Given the description of an element on the screen output the (x, y) to click on. 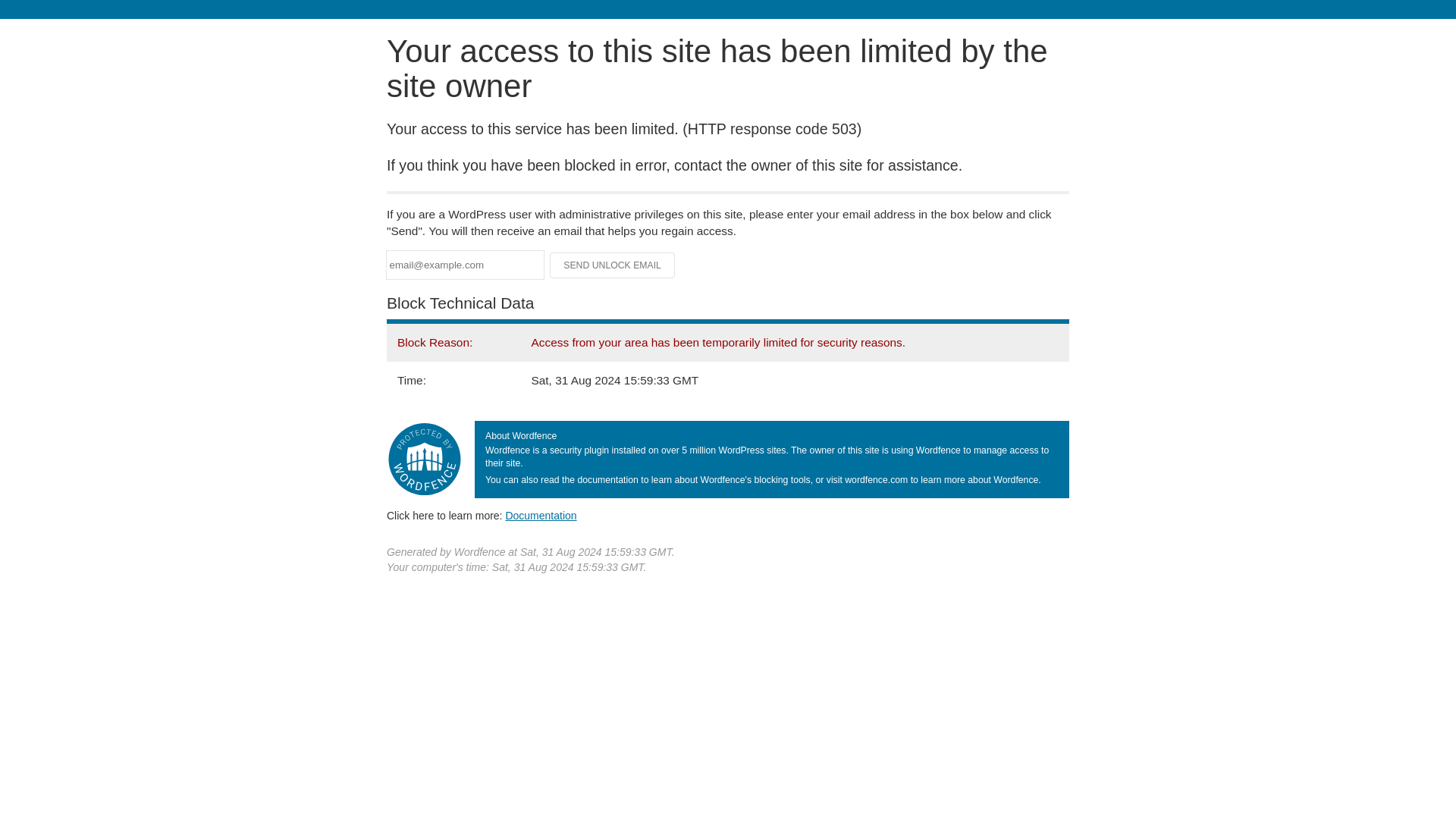
Send Unlock Email (612, 265)
Send Unlock Email (612, 265)
Documentation (540, 515)
